Given the description of an element on the screen output the (x, y) to click on. 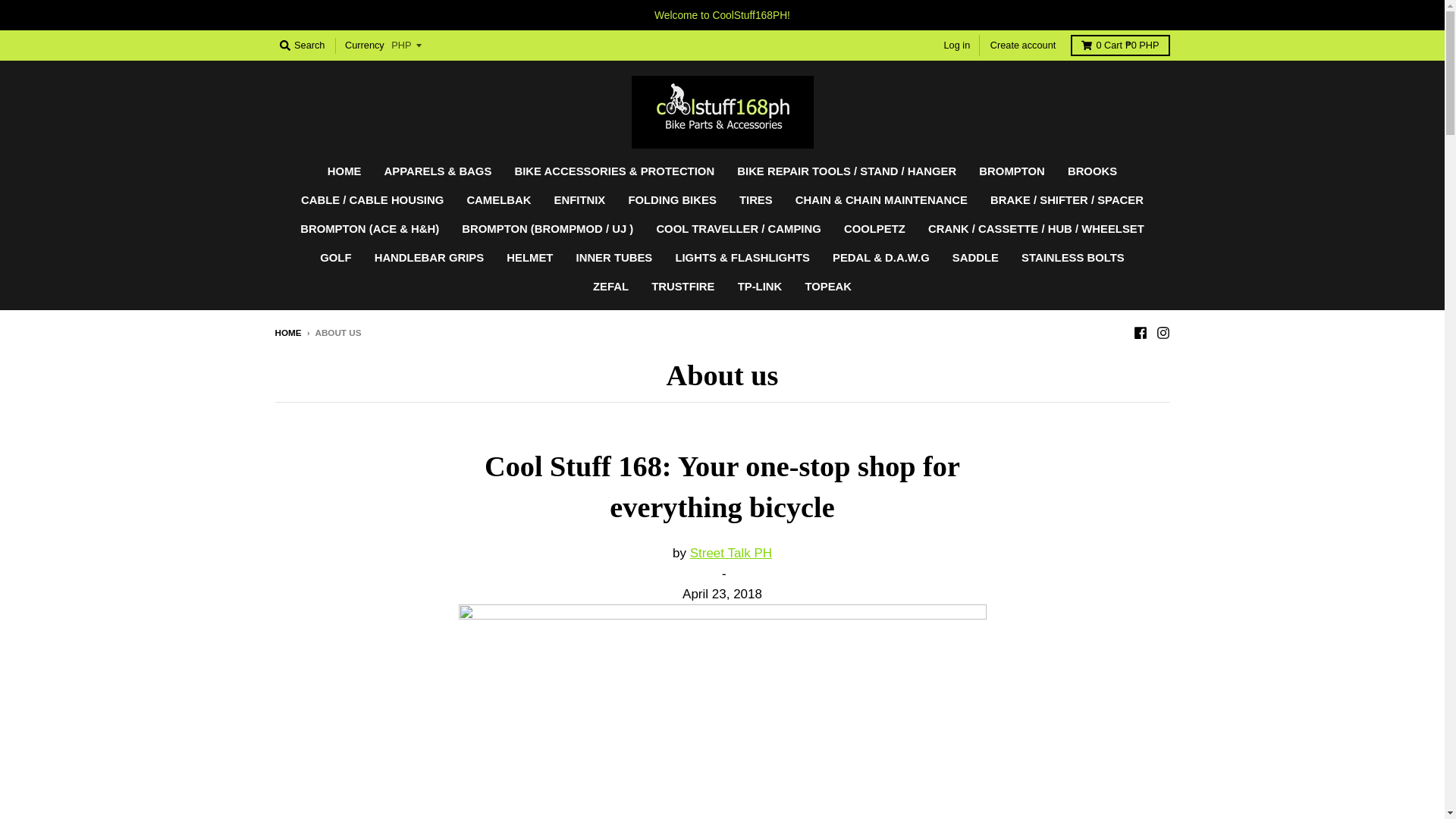
CoolStuff168logofinal (721, 711)
HOME (344, 172)
Facebook - CoolStuff168PH  (1139, 332)
Instagram - CoolStuff168PH  (1162, 332)
ENFITNIX (579, 200)
COOLPETZ (874, 229)
Create account (1022, 45)
SADDLE (975, 258)
Search (302, 45)
TOPEAK (827, 287)
